Given the description of an element on the screen output the (x, y) to click on. 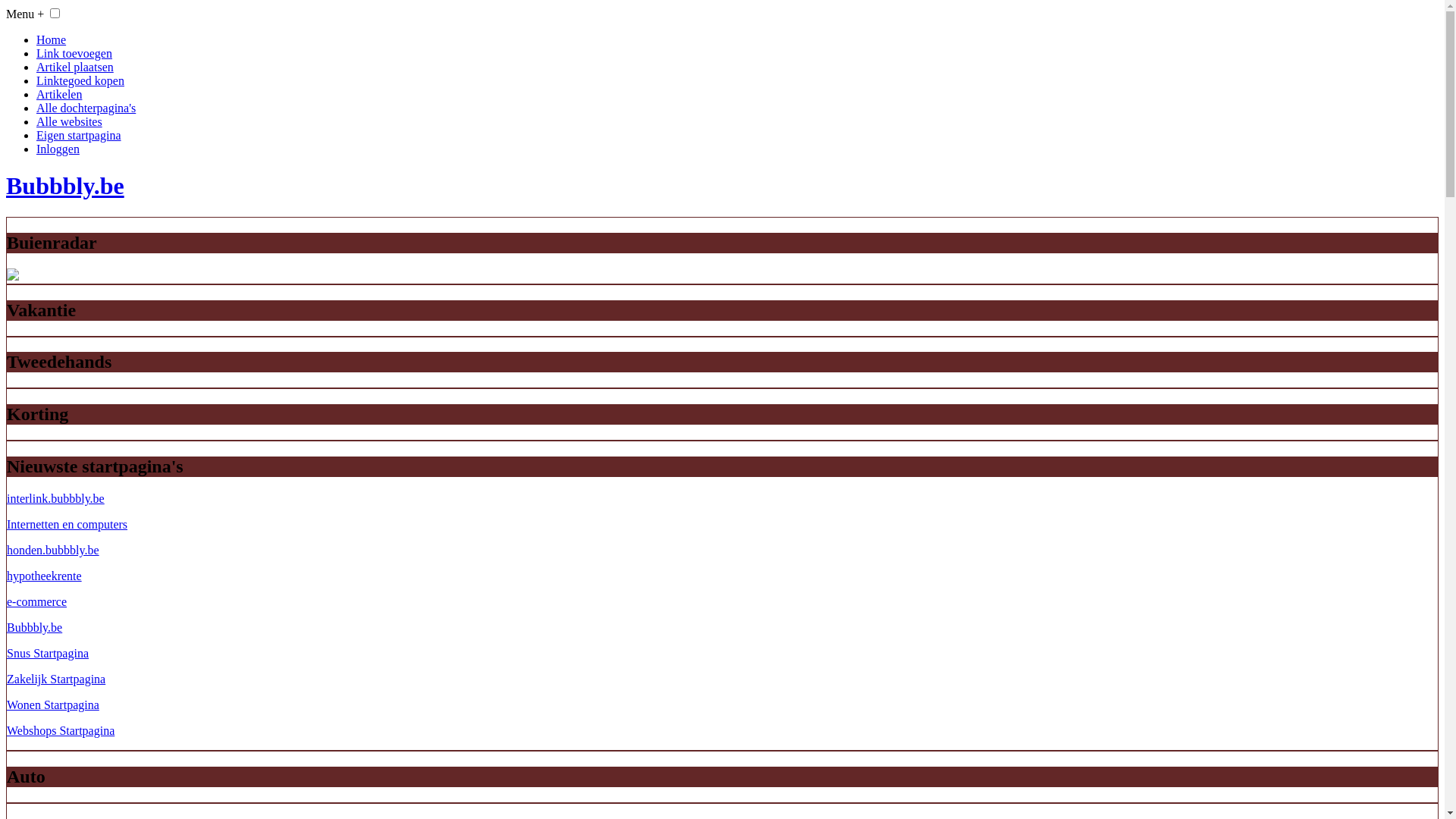
Alle dochterpagina's Element type: text (85, 107)
Bubbbly.be Element type: text (722, 186)
hypotheekrente Element type: text (43, 575)
Webshops Startpagina Element type: text (60, 730)
Wonen Startpagina Element type: text (52, 704)
Home Element type: text (50, 39)
Link toevoegen Element type: text (74, 53)
Snus Startpagina Element type: text (47, 652)
Bubbbly.be Element type: text (34, 627)
honden.bubbbly.be Element type: text (52, 549)
Linktegoed kopen Element type: text (80, 80)
Artikel plaatsen Element type: text (74, 66)
interlink.bubbbly.be Element type: text (55, 498)
Artikelen Element type: text (58, 93)
Eigen startpagina Element type: text (78, 134)
Zakelijk Startpagina Element type: text (55, 678)
Inloggen Element type: text (57, 148)
e-commerce Element type: text (36, 601)
Alle websites Element type: text (69, 121)
Internetten en computers Element type: text (66, 523)
